Given the description of an element on the screen output the (x, y) to click on. 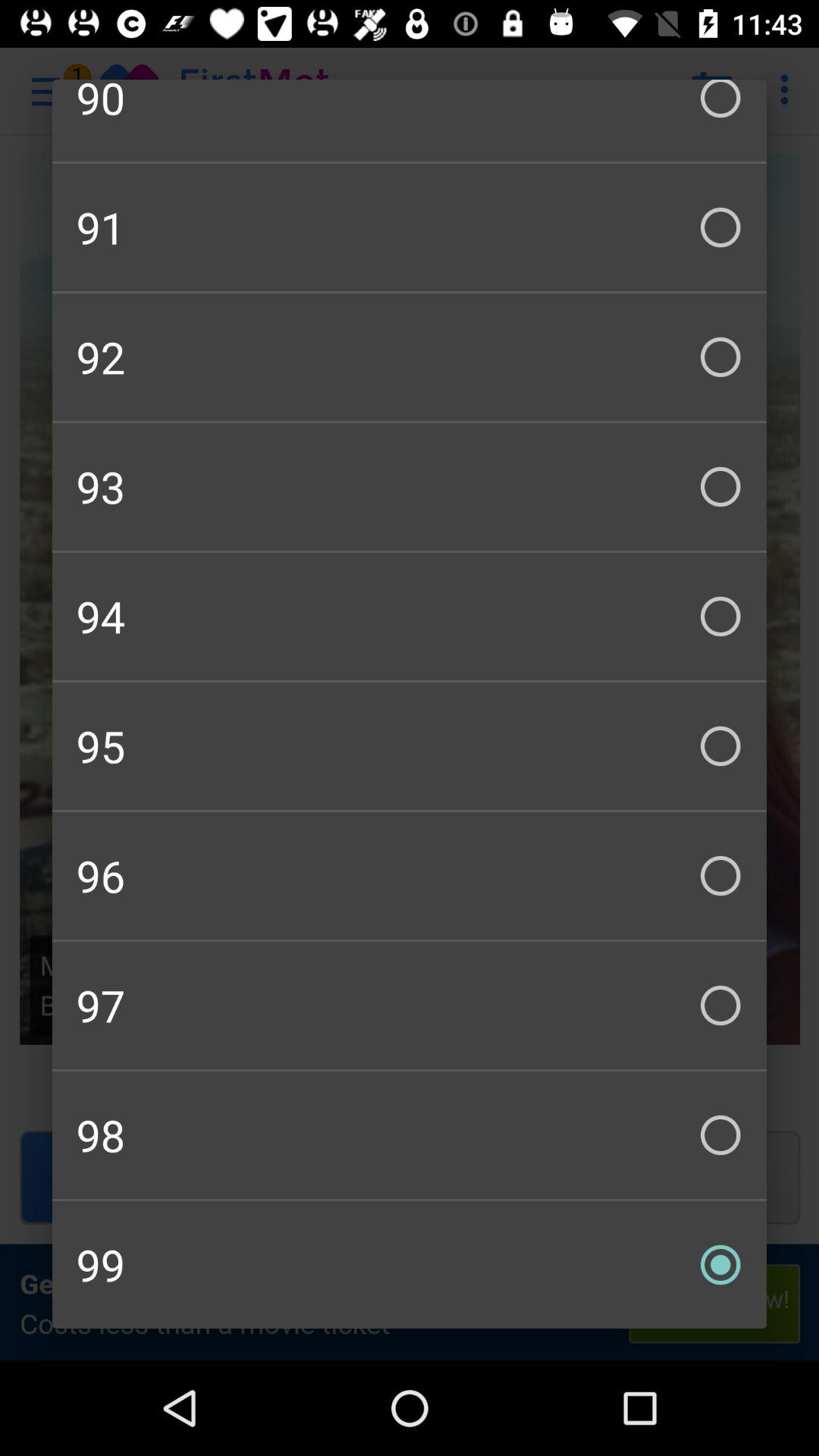
select the checkbox below 96 checkbox (409, 1005)
